Given the description of an element on the screen output the (x, y) to click on. 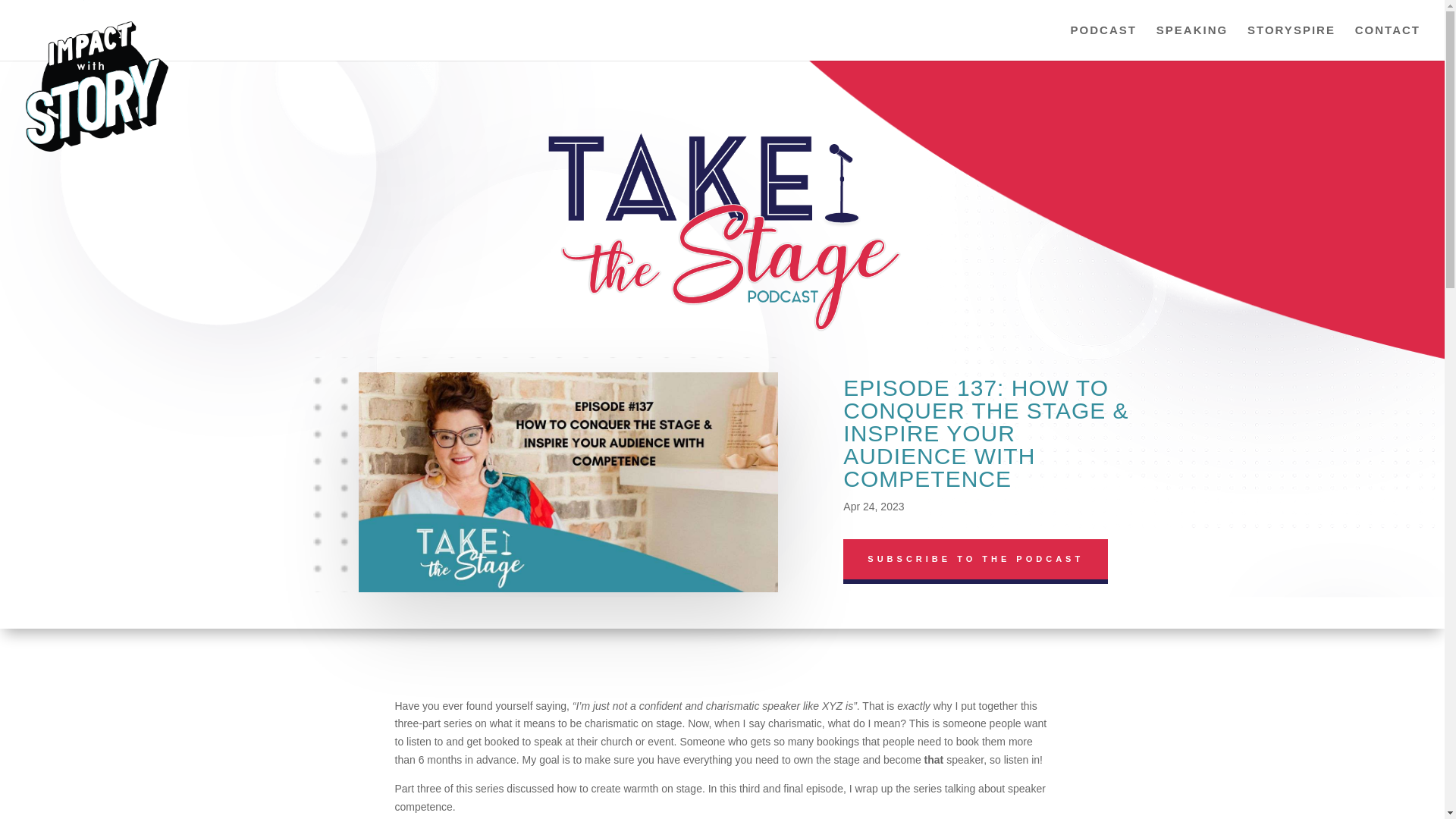
CONTACT (1388, 42)
Podcast graphics 102 (567, 482)
STORYSPIRE (1291, 42)
PODCAST (1103, 42)
Take-the-Stage-Podcast-Logo (722, 228)
SUBSCRIBE TO THE PODCAST (975, 558)
SPEAKING (1191, 42)
